Given the description of an element on the screen output the (x, y) to click on. 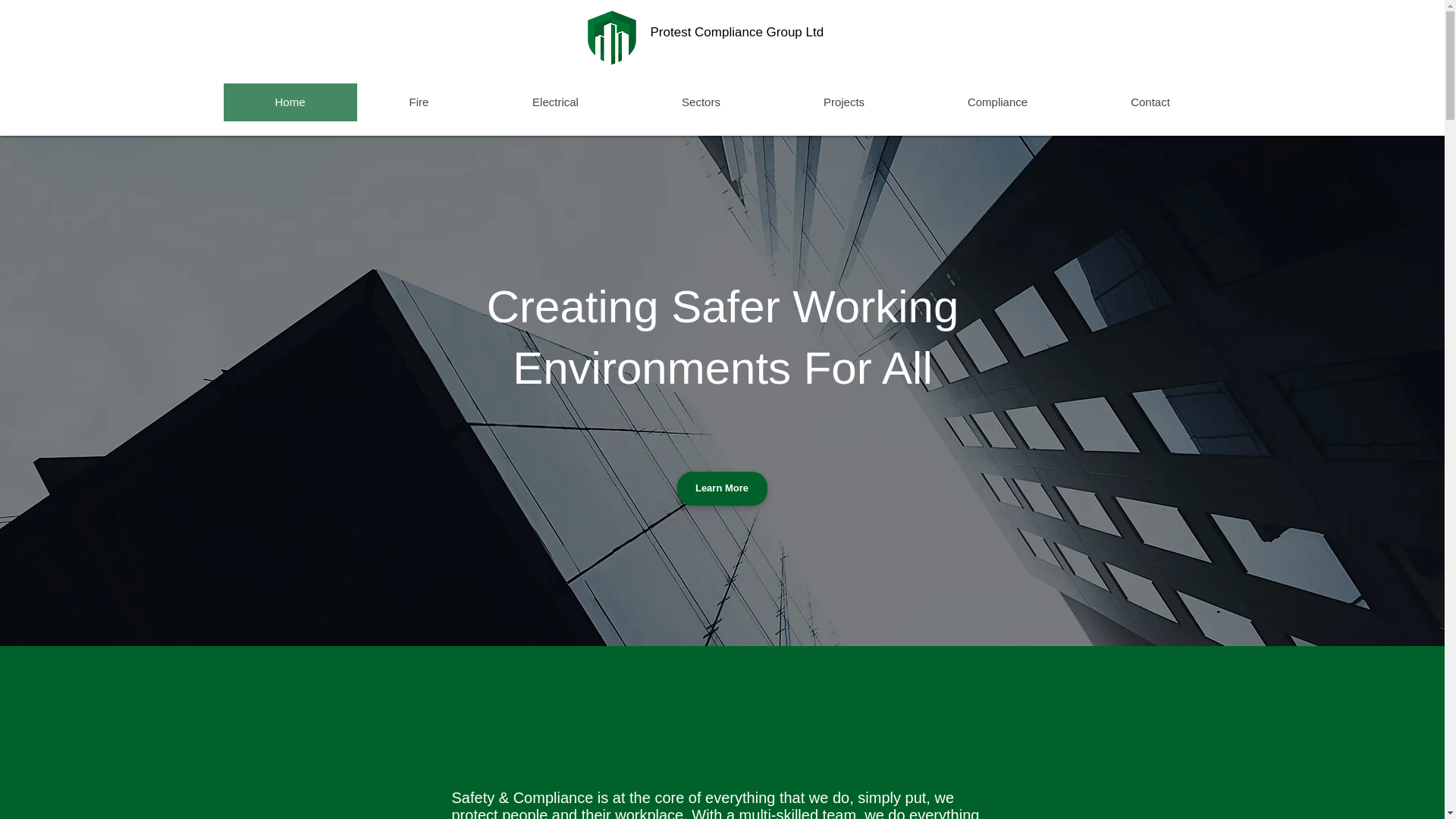
Contact (1149, 102)
Home (289, 102)
Fire (418, 102)
Projects (843, 102)
Compliance (996, 102)
Learn More (722, 488)
Electrical (555, 102)
Sectors (699, 102)
